Given the description of an element on the screen output the (x, y) to click on. 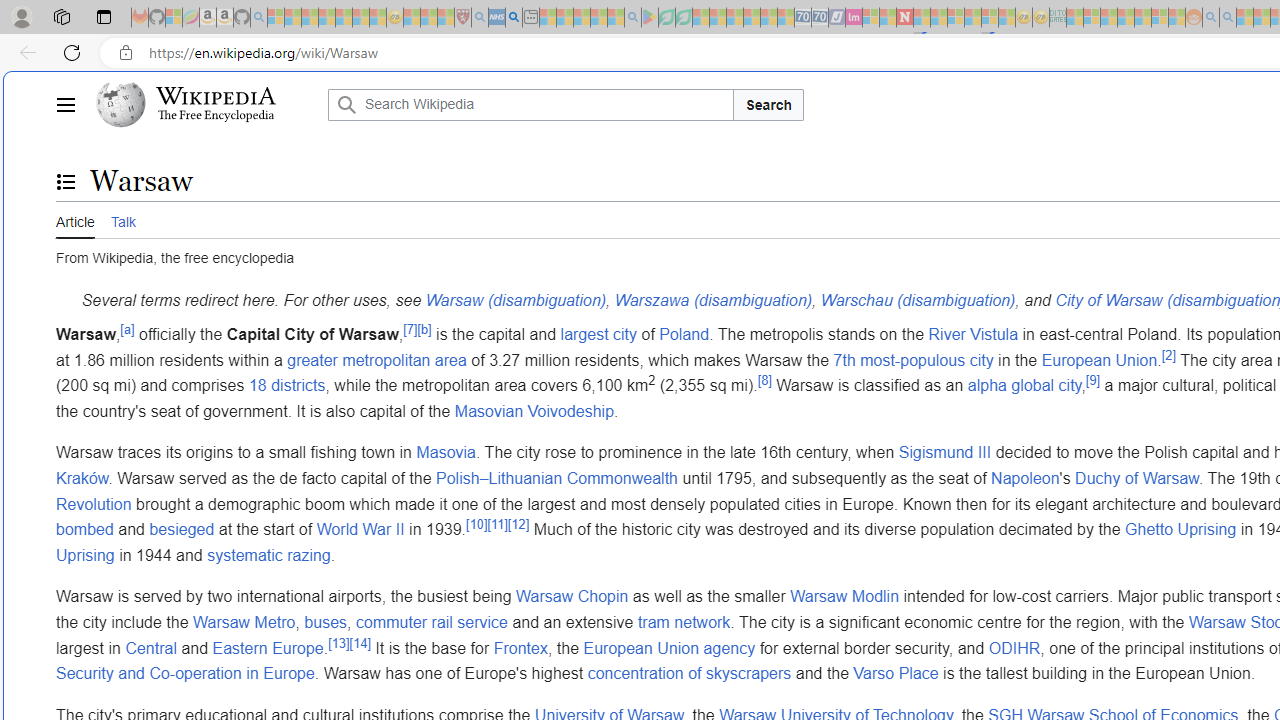
[9] (1092, 380)
Poland (684, 333)
[8] (763, 380)
European Union (1099, 359)
Warsaw Metro (243, 621)
global city (1046, 386)
Varso Place (895, 674)
systematic razing (269, 554)
European Union agency (669, 647)
